Given the description of an element on the screen output the (x, y) to click on. 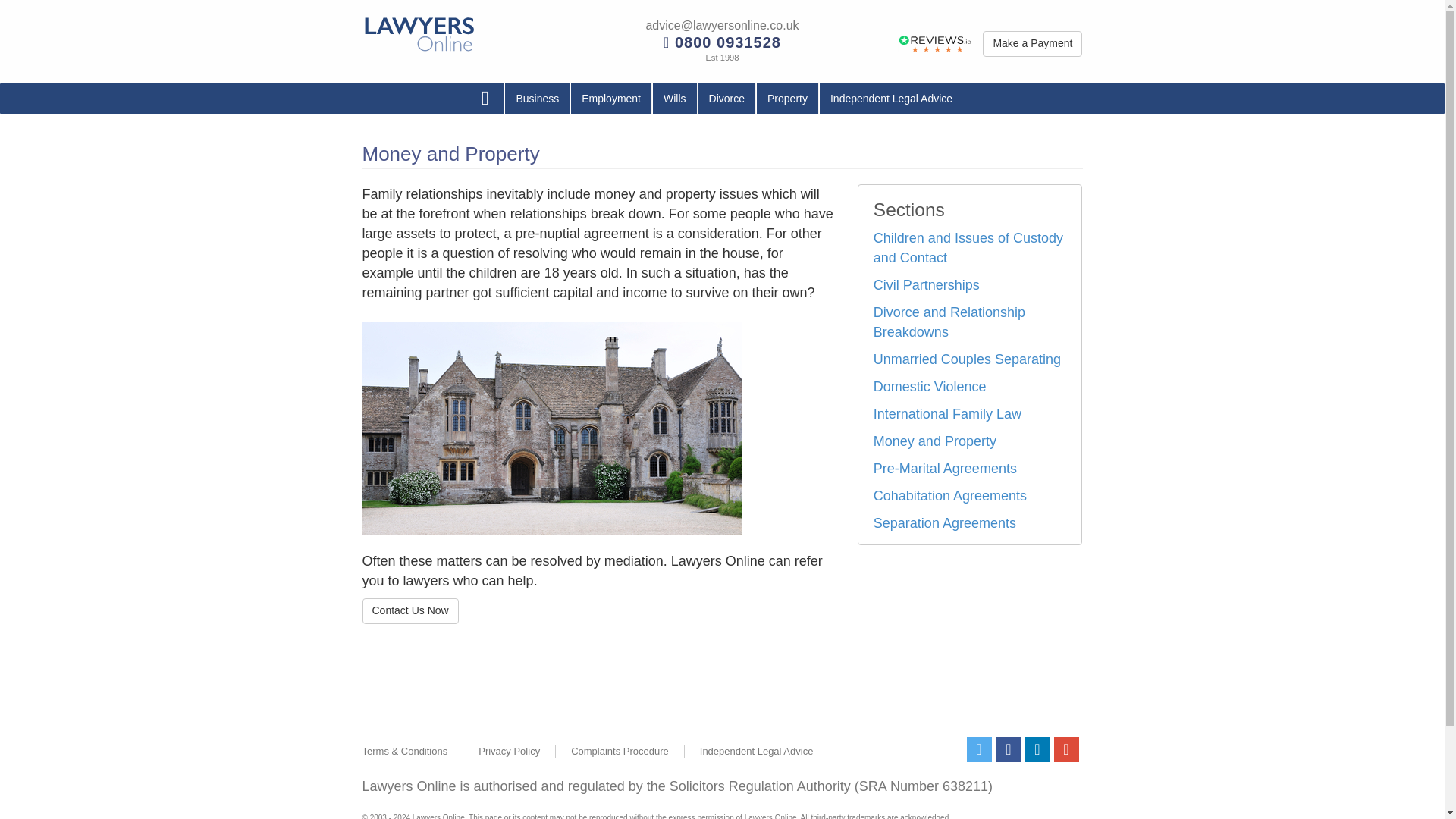
Make a Payment (1031, 43)
Wills (674, 98)
Divorce (726, 98)
Business (537, 98)
Employment (610, 98)
